Given the description of an element on the screen output the (x, y) to click on. 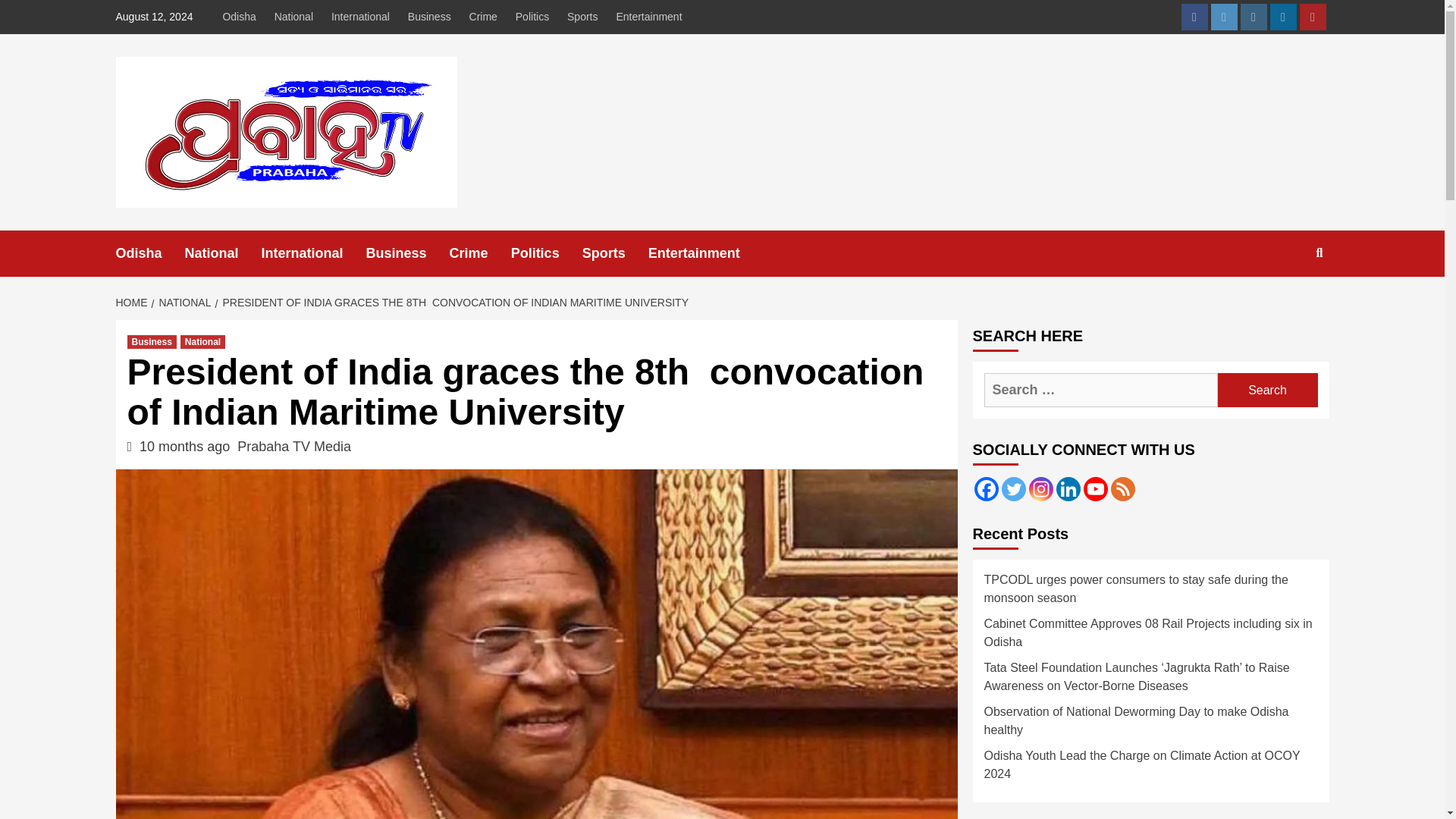
Sports (614, 253)
NATIONAL (183, 302)
Youtube (1313, 17)
National (293, 17)
National (223, 253)
Crime (483, 17)
Entertainment (704, 253)
Sports (582, 17)
Facebook (985, 488)
Crime (480, 253)
